Given the description of an element on the screen output the (x, y) to click on. 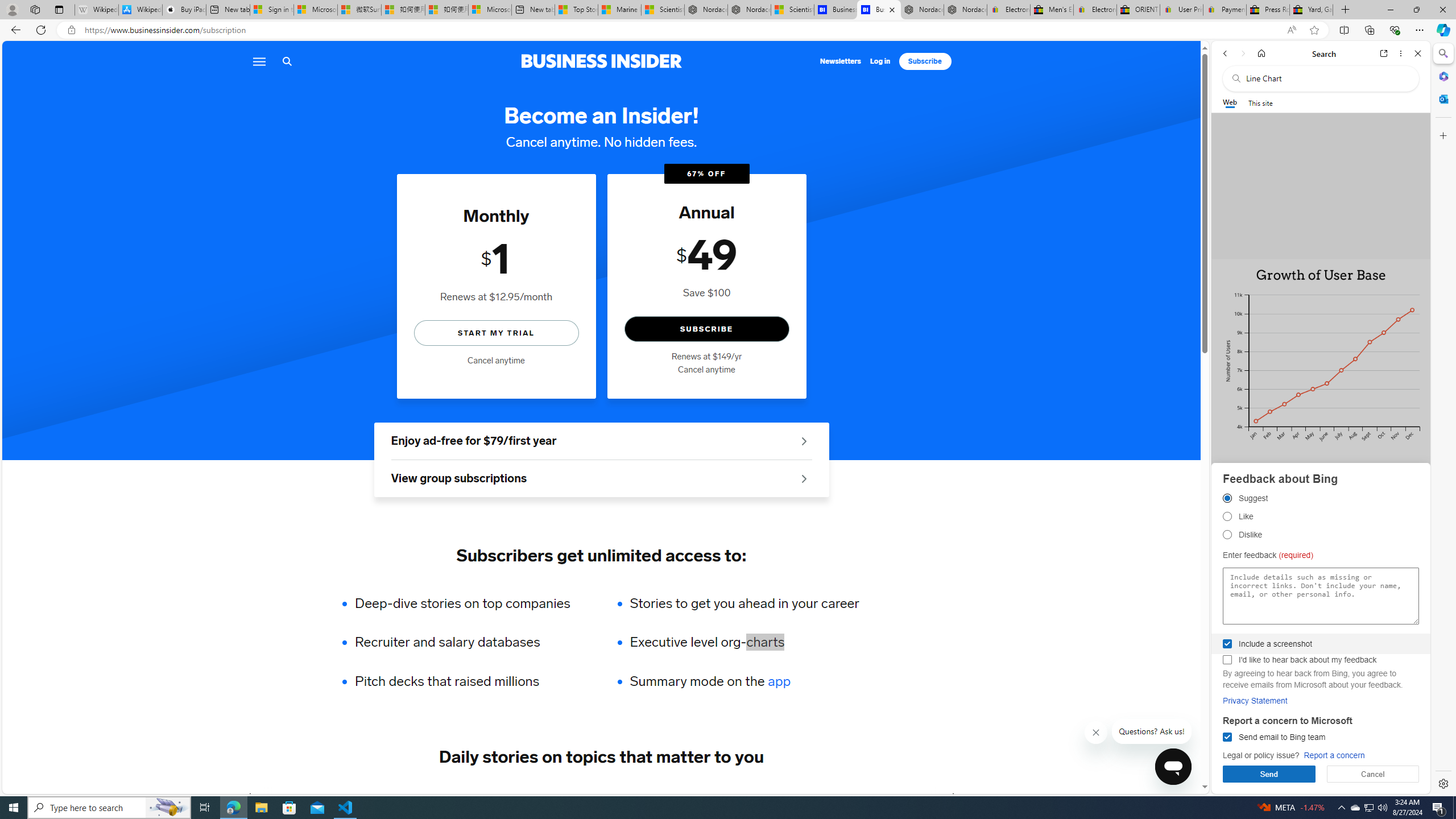
Go to the search page. (286, 61)
Open messaging window (1172, 766)
Cancel (1372, 773)
Class: sc-1k07fow-1 cbnSms (1173, 766)
Newsletters (840, 61)
Privacy Statement (1255, 700)
RETAIL (422, 796)
